Given the description of an element on the screen output the (x, y) to click on. 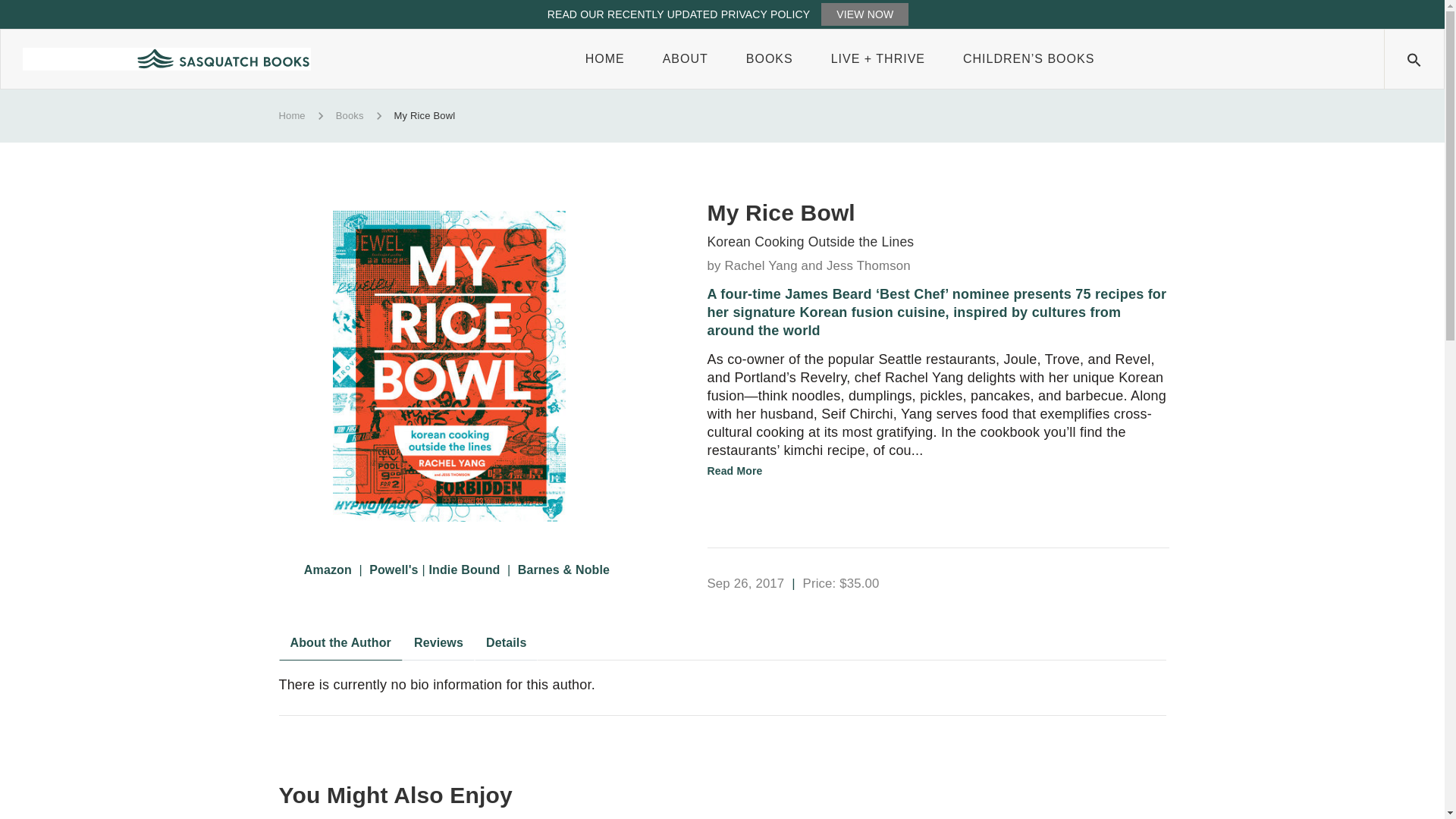
About (684, 58)
Books (769, 58)
ABOUT (684, 58)
Live and Thrive (877, 58)
Home (604, 58)
VIEW NOW (864, 14)
HOME (604, 58)
BOOKS (769, 58)
Little Bigfoot (1028, 58)
